Given the description of an element on the screen output the (x, y) to click on. 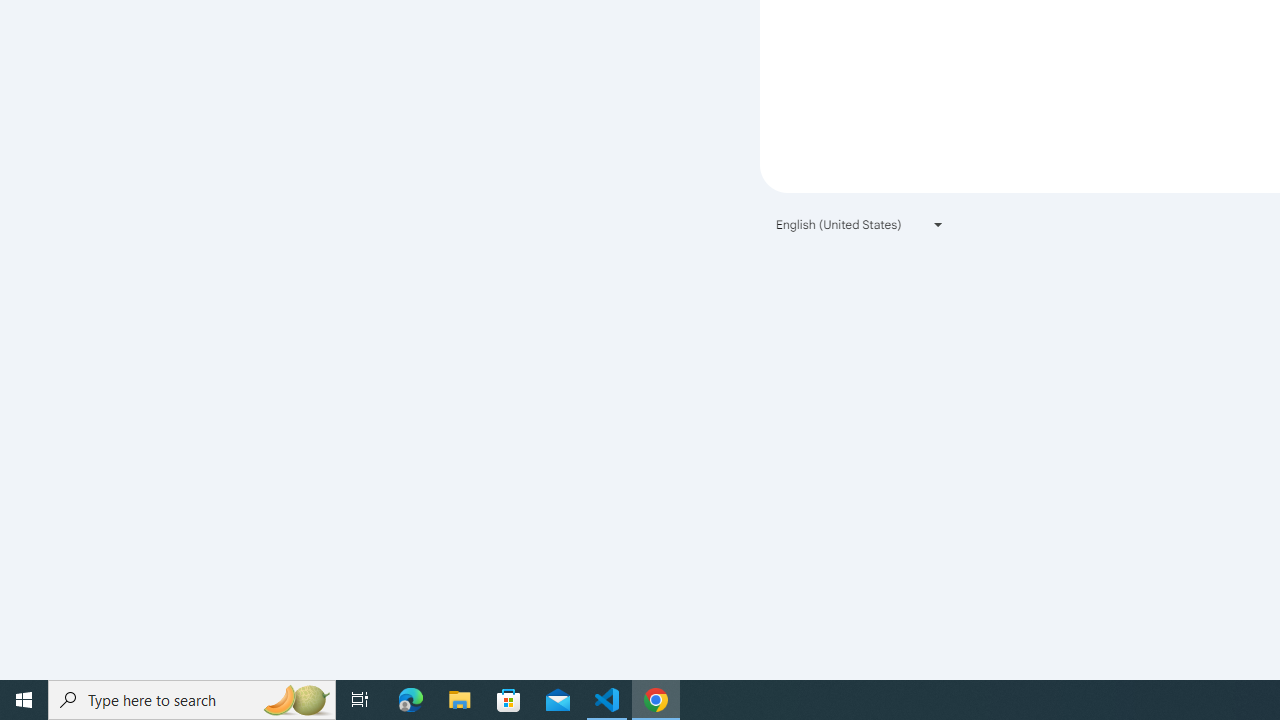
English (United States) (860, 224)
